Given the description of an element on the screen output the (x, y) to click on. 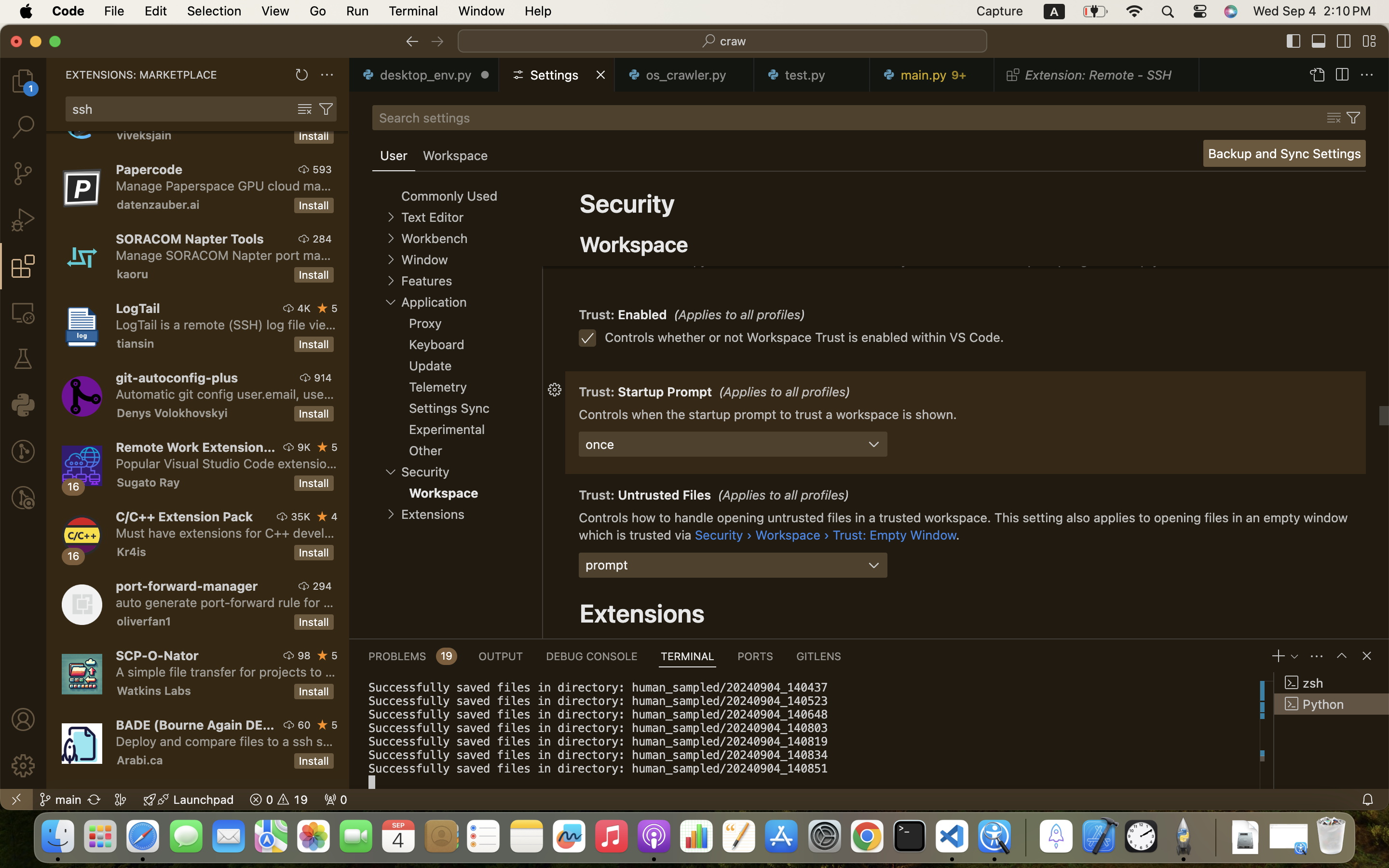
 Element type: AXStaticText (304, 238)
Enabled Element type: AXStaticText (642, 314)
Launchpad   Element type: AXButton (188, 799)
Window Element type: AXStaticText (424, 259)
Applies to all profiles Element type: AXGroup (781, 221)
